Given the description of an element on the screen output the (x, y) to click on. 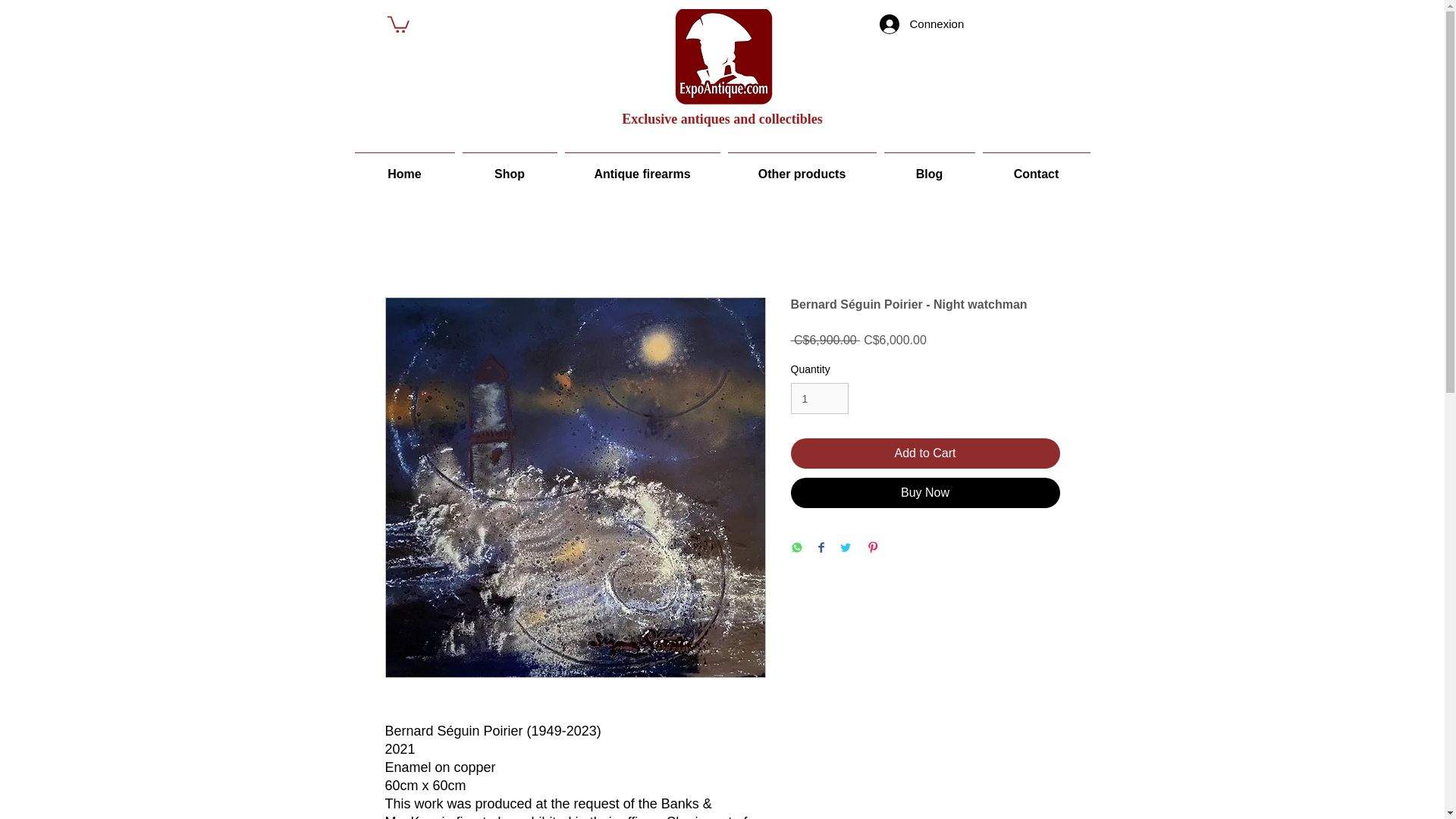
Home (404, 166)
Contact (1035, 166)
Buy Now (924, 492)
Shop (509, 166)
Connexion (922, 23)
Add to Cart (924, 453)
Blog (928, 166)
1 (818, 398)
